Given the description of an element on the screen output the (x, y) to click on. 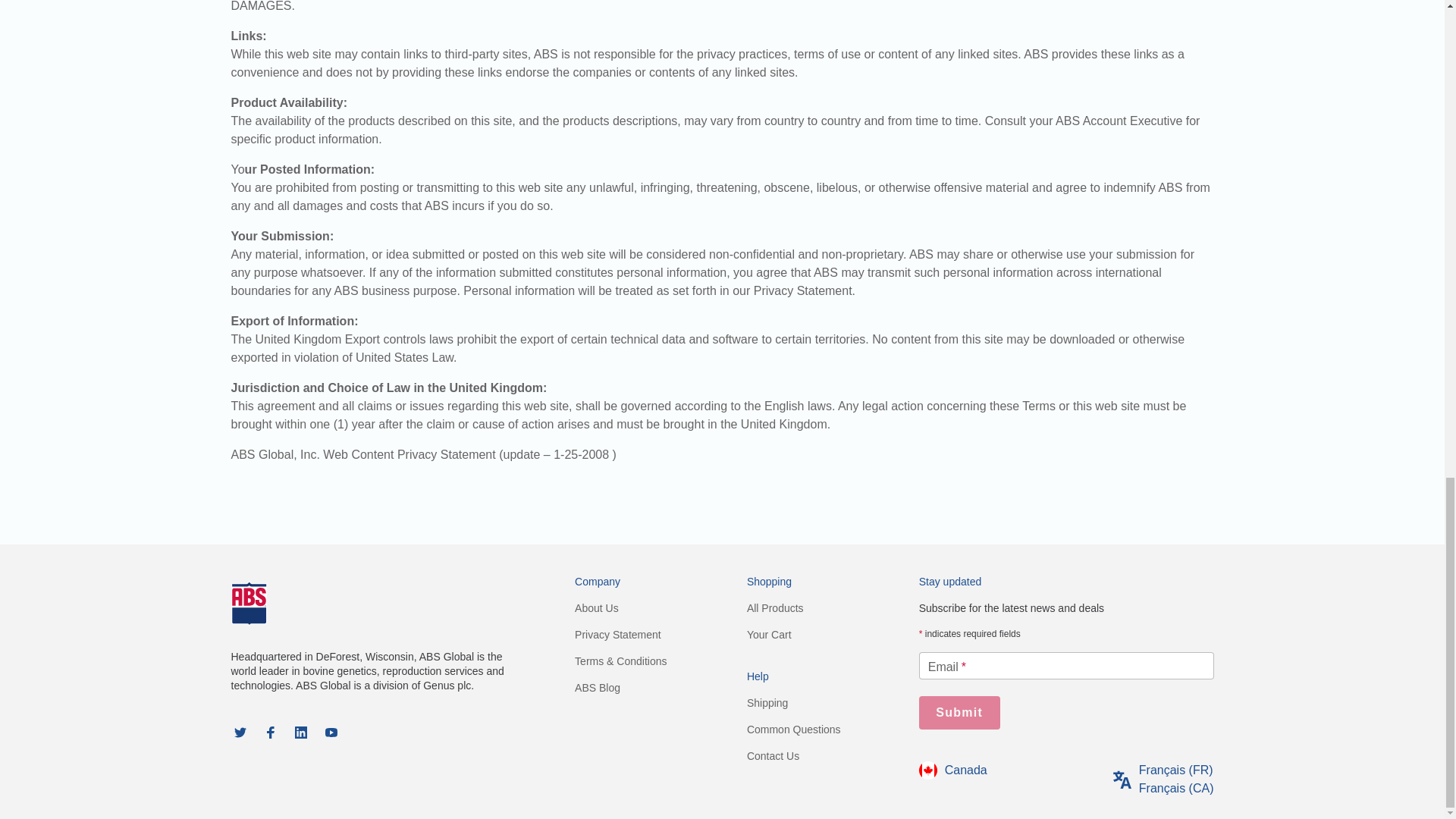
Submit (959, 712)
